Given the description of an element on the screen output the (x, y) to click on. 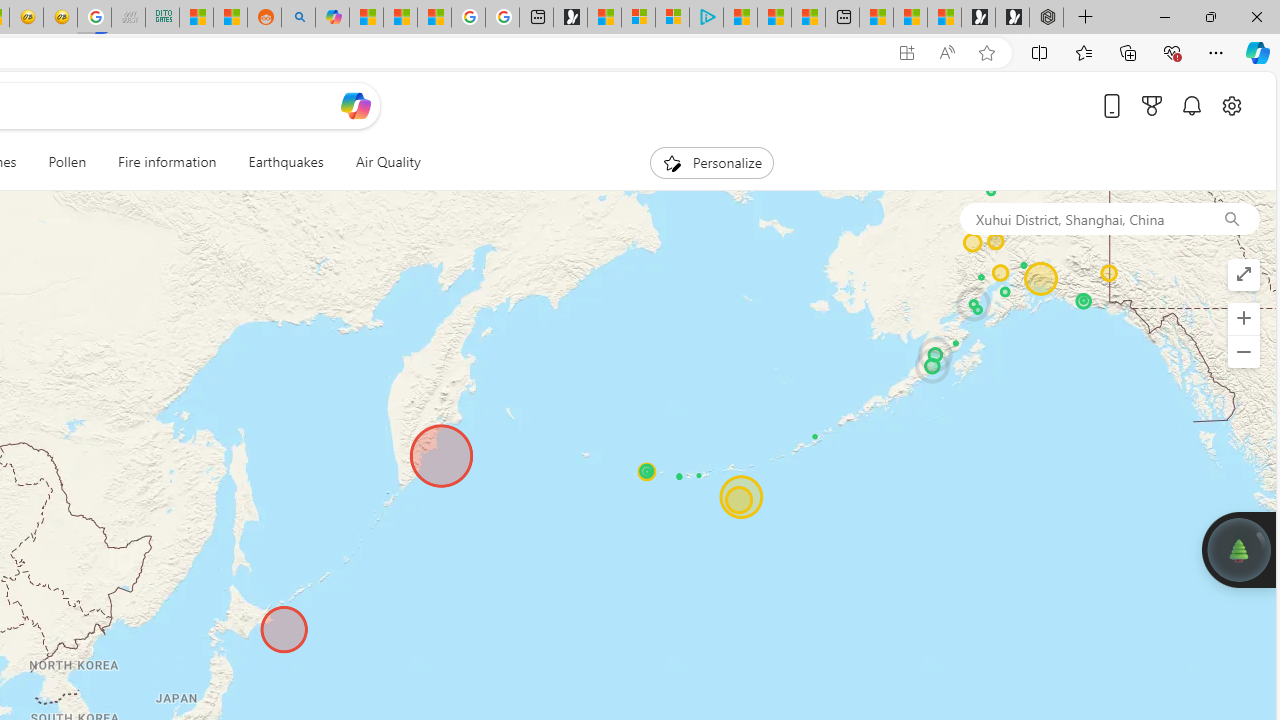
New tab (841, 17)
Microsoft Copilot in Bing (332, 17)
Restore (1210, 16)
Join us in planting real trees to help our planet! (1239, 548)
Personalize (711, 162)
Pollen (67, 162)
Fire information (167, 162)
Xuhui District, Shanghai, China (1081, 218)
Collections (1128, 52)
Minimize (1164, 16)
